Given the description of an element on the screen output the (x, y) to click on. 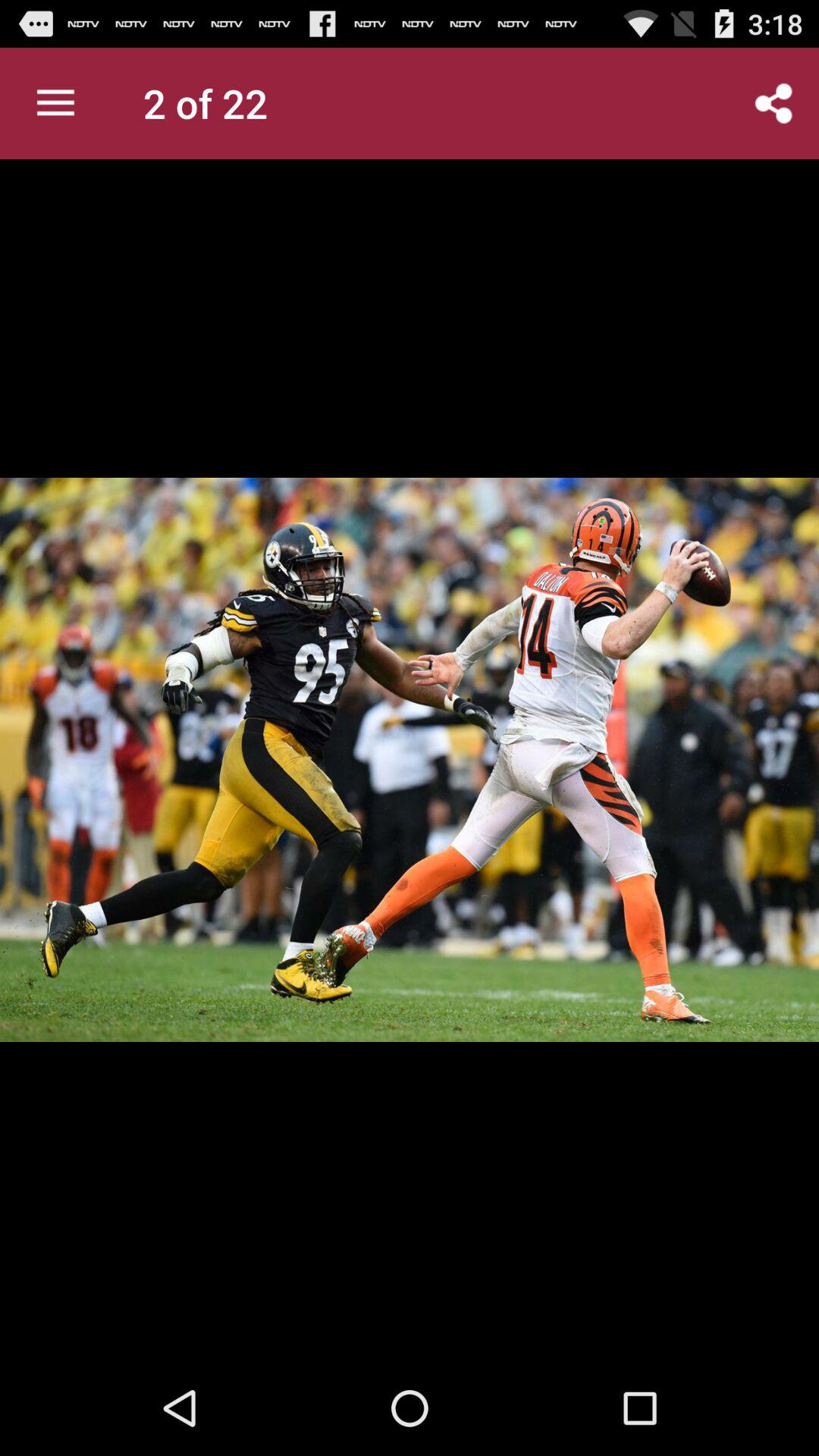
turn on icon next to the 2 of 22 item (55, 103)
